Given the description of an element on the screen output the (x, y) to click on. 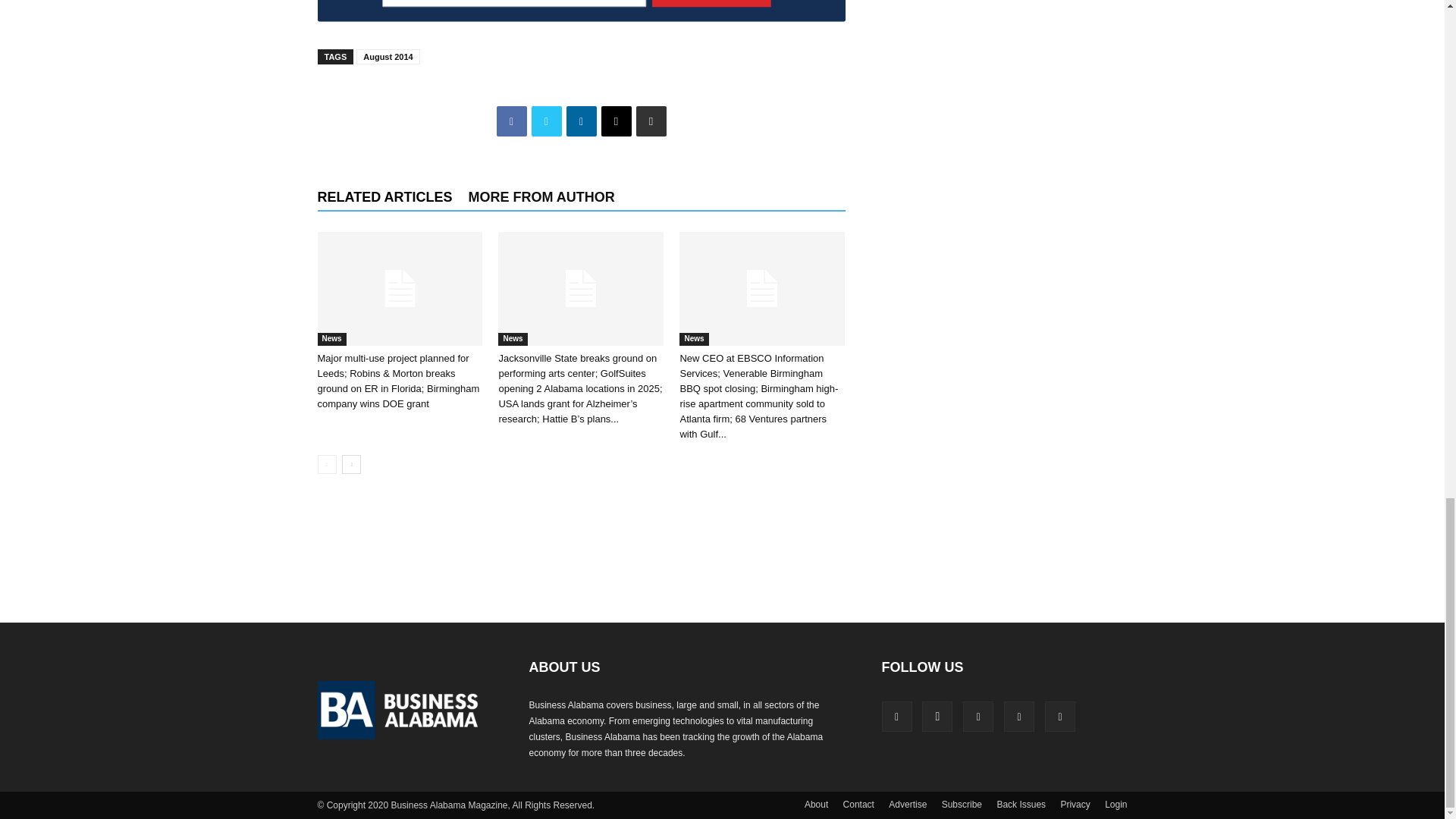
Twitter (545, 121)
Facebook (510, 121)
